Given the description of an element on the screen output the (x, y) to click on. 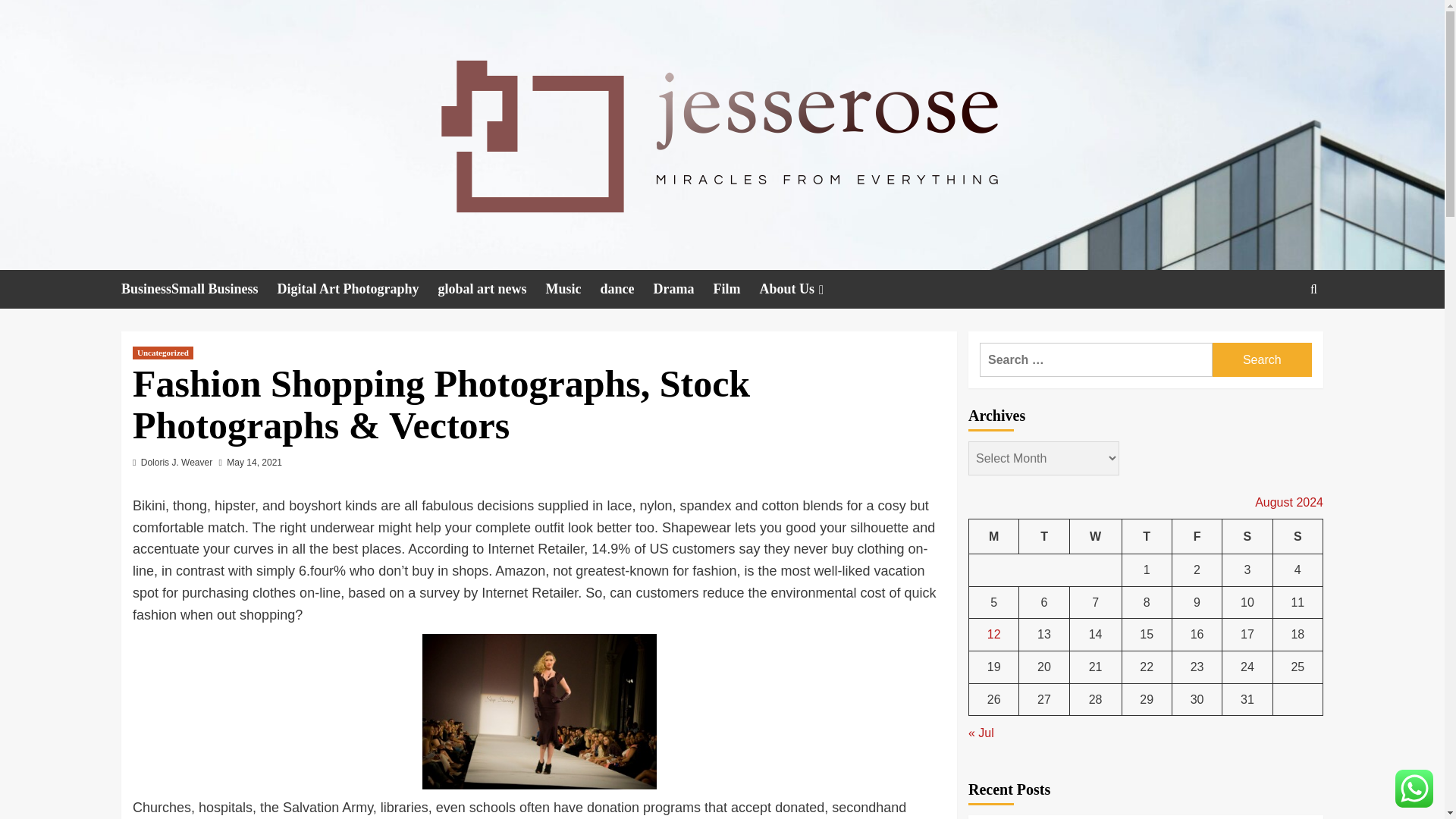
Drama (683, 289)
May 14, 2021 (254, 462)
Doloris J. Weaver (176, 462)
BusinessSmall Business (199, 289)
Friday (1196, 536)
Monday (994, 536)
Tuesday (1043, 536)
Music (572, 289)
Wednesday (1094, 536)
dance (626, 289)
